Given the description of an element on the screen output the (x, y) to click on. 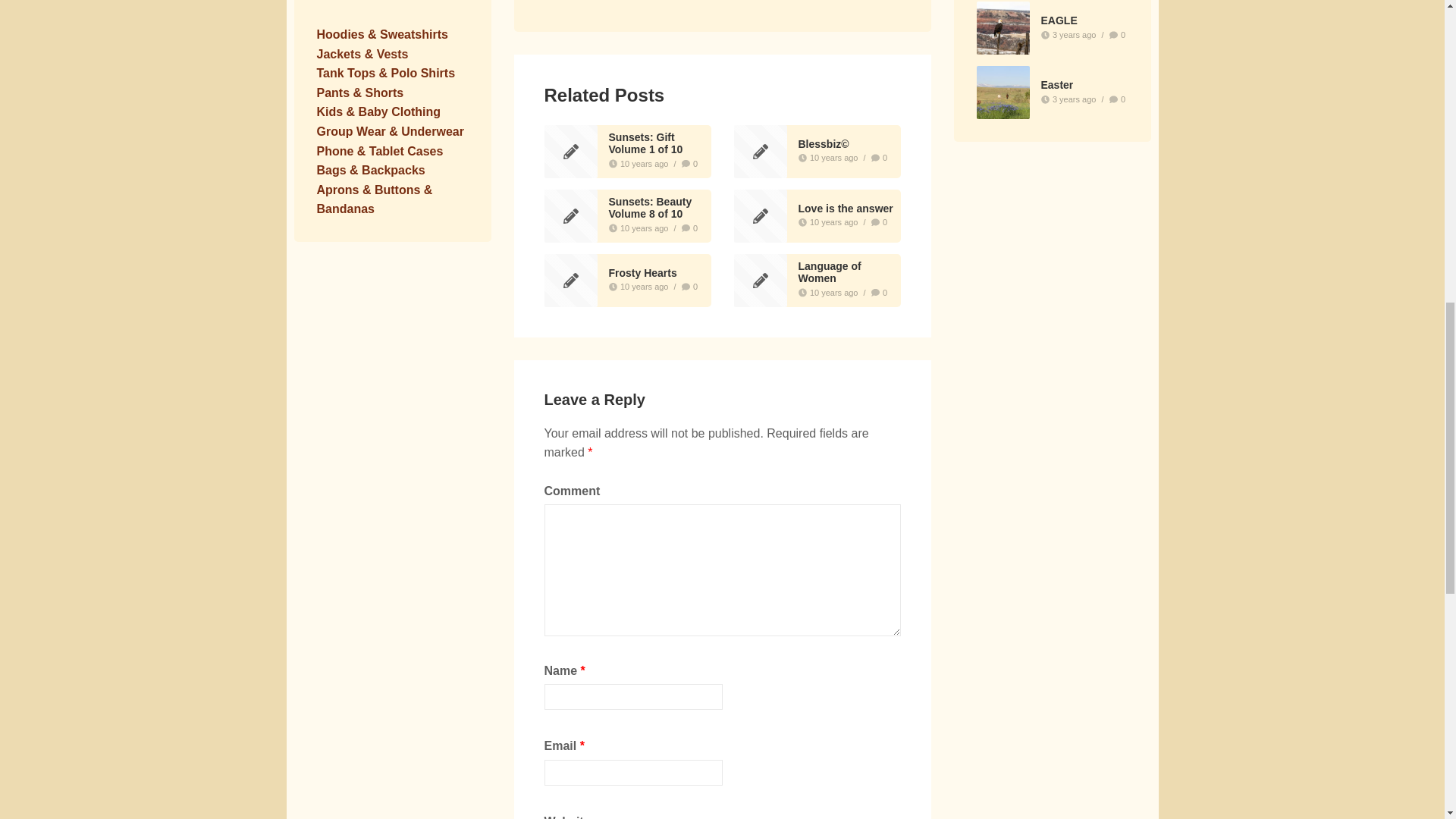
Sunsets:  Gift   Volume 1 of 10 (645, 143)
Sunsets: Gift Volume 1 of 10 (645, 143)
Sunsets: Beauty Volume 8 of 10 (649, 207)
